Given the description of an element on the screen output the (x, y) to click on. 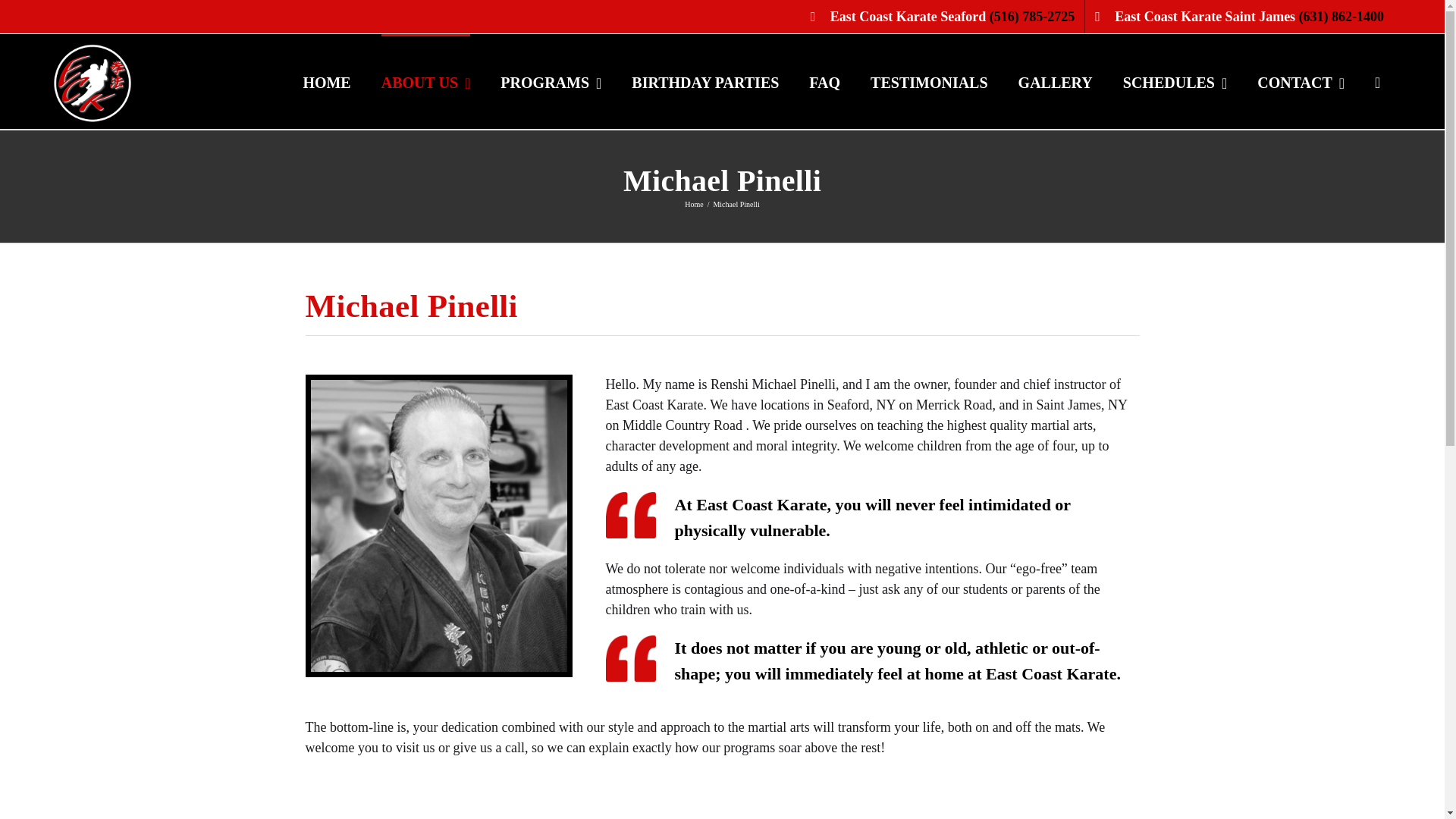
BIRTHDAY PARTIES (704, 81)
ABOUT US (425, 81)
SCHEDULES (1174, 81)
CONTACT (1300, 81)
TESTIMONIALS (929, 81)
PROGRAMS (550, 81)
